Given the description of an element on the screen output the (x, y) to click on. 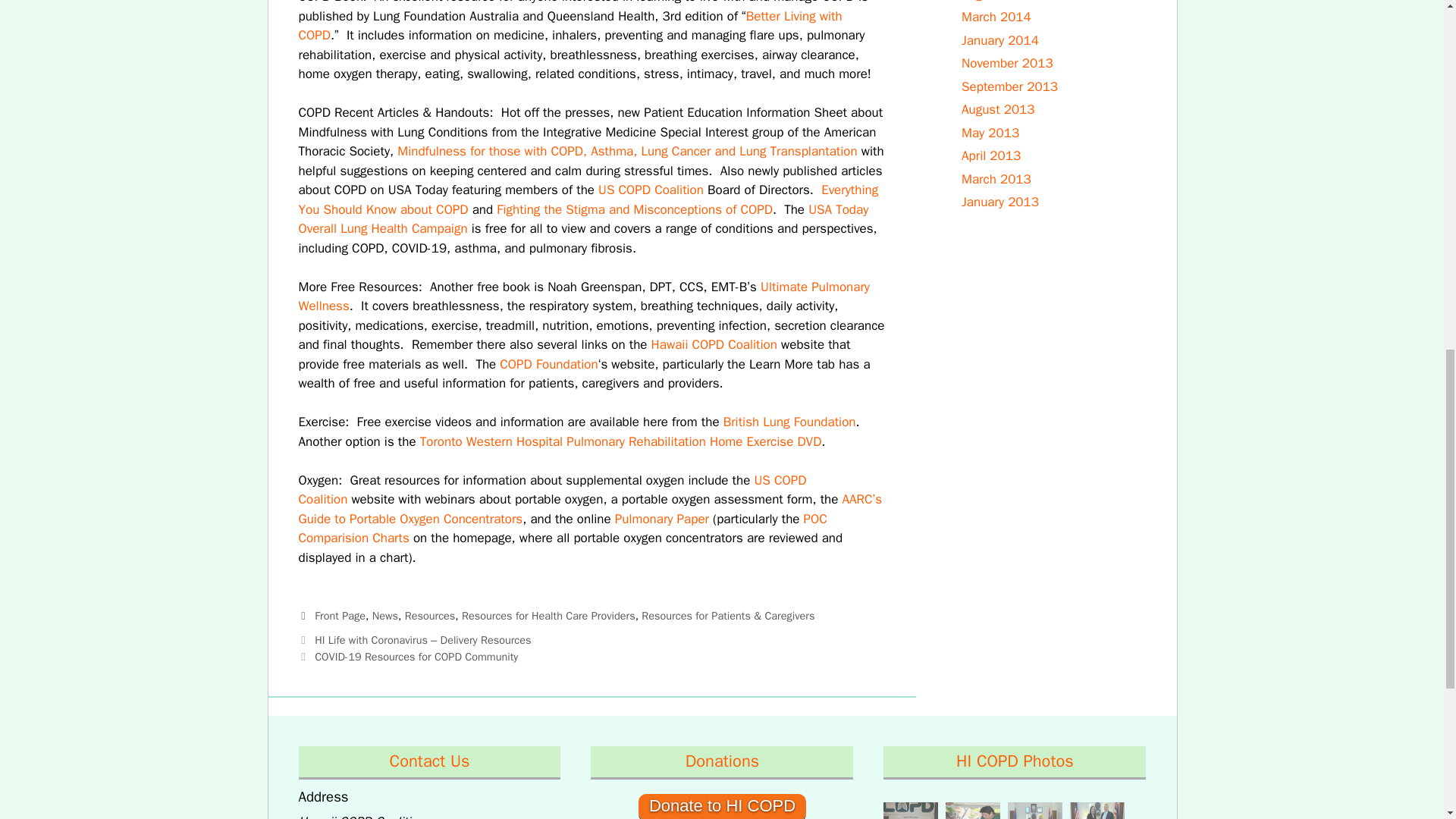
hawaii-copd-photo-478 (1097, 810)
Everything You Should Know about COPD (588, 199)
US COPD Coalition (650, 189)
Better Living with COPD (570, 26)
hawaii-copd-photo-479 (1034, 810)
hawaii-copd-photo-481 (972, 810)
hawaii-copd-photo-480 (910, 810)
